Given the description of an element on the screen output the (x, y) to click on. 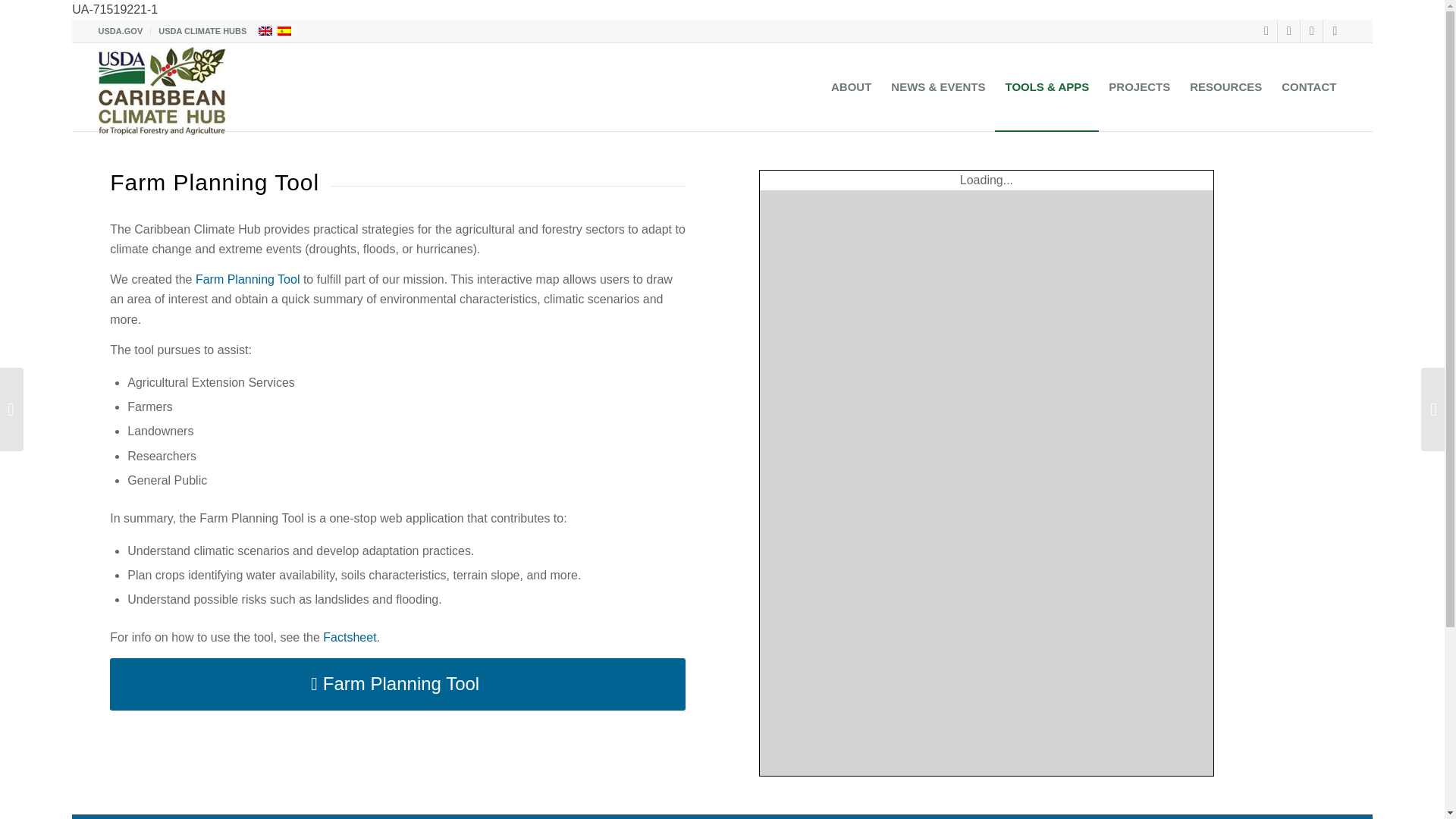
USDA CLIMATE HUBS (202, 30)
English (265, 30)
Facebook (1265, 30)
Twitter (1289, 30)
USDA.GOV (120, 30)
RESOURCES (1225, 87)
PROJECTS (1139, 87)
logo-ch1 (162, 90)
